Given the description of an element on the screen output the (x, y) to click on. 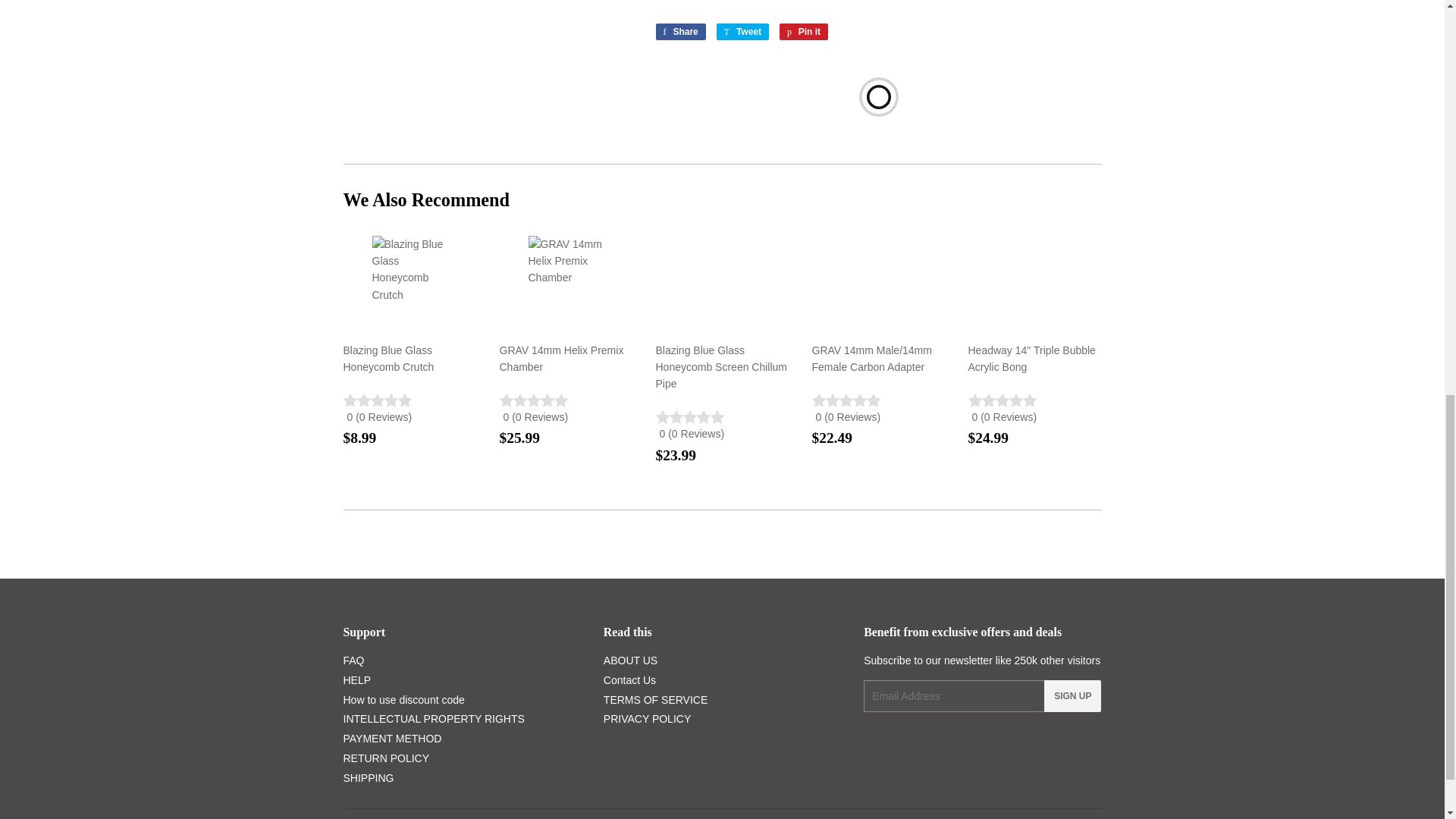
Share on Facebook (679, 31)
Tweet on Twitter (742, 31)
Pin on Pinterest (803, 31)
